Given the description of an element on the screen output the (x, y) to click on. 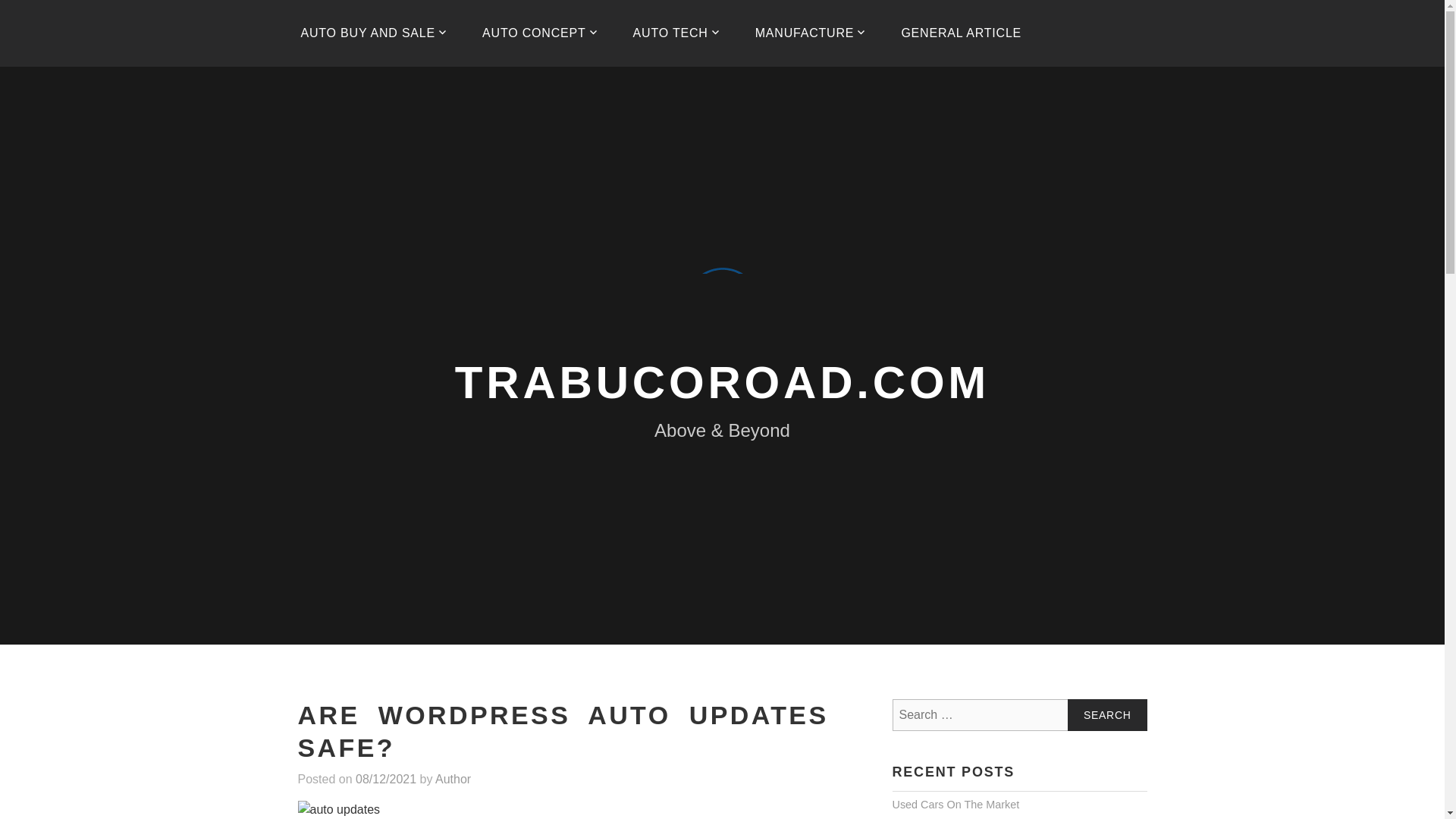
Search (1107, 715)
AUTO CONCEPT (539, 33)
AUTO BUY AND SALE (374, 33)
Search (1107, 715)
GENERAL ARTICLE (960, 33)
AUTO TECH (676, 33)
TRABUCOROAD.COM (722, 381)
Author (452, 779)
Search (1107, 715)
MANUFACTURE (810, 33)
